Given the description of an element on the screen output the (x, y) to click on. 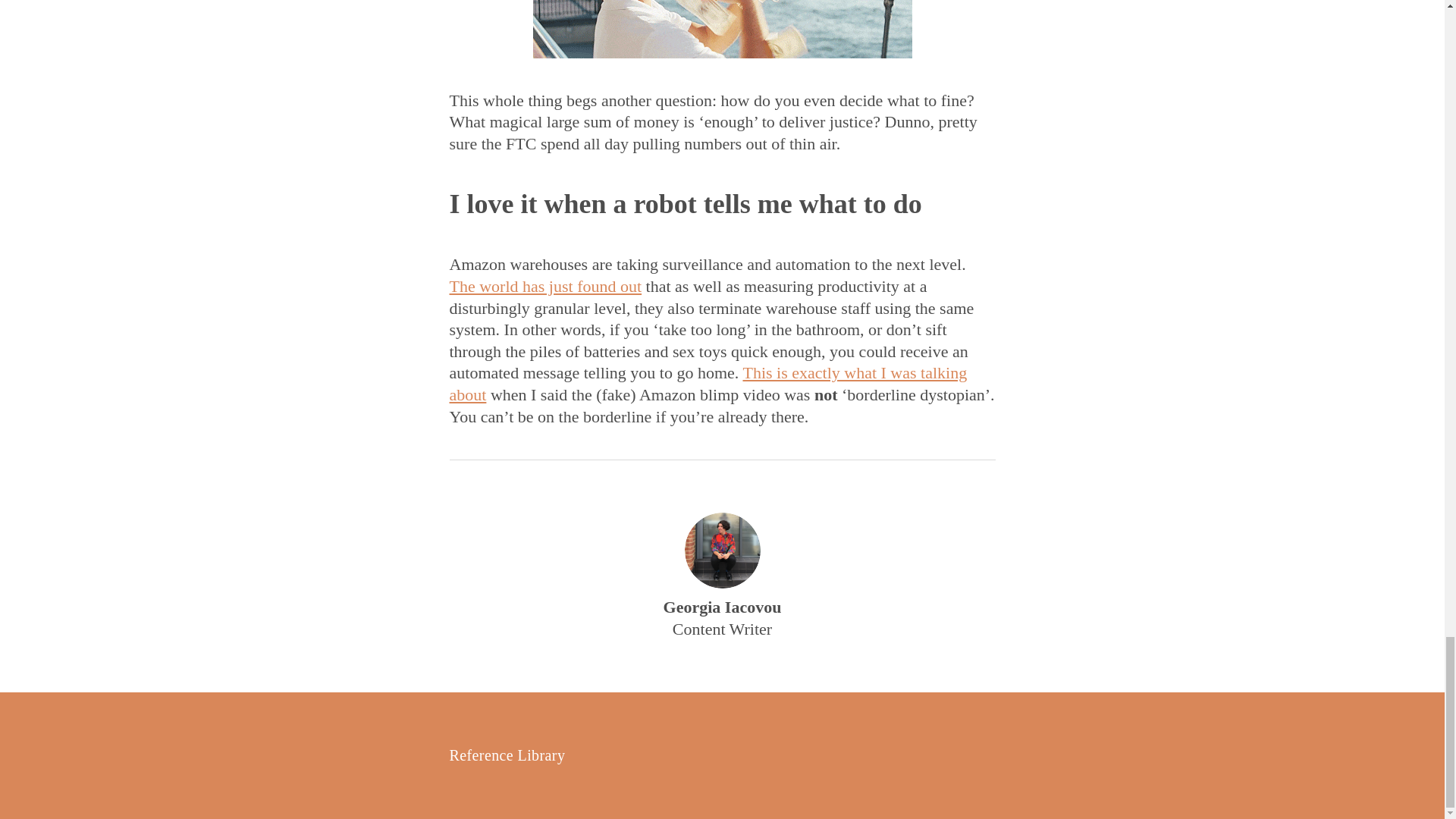
The world has just found out (545, 285)
Reference Library (506, 755)
This is exactly what I was talking about (707, 383)
